Given the description of an element on the screen output the (x, y) to click on. 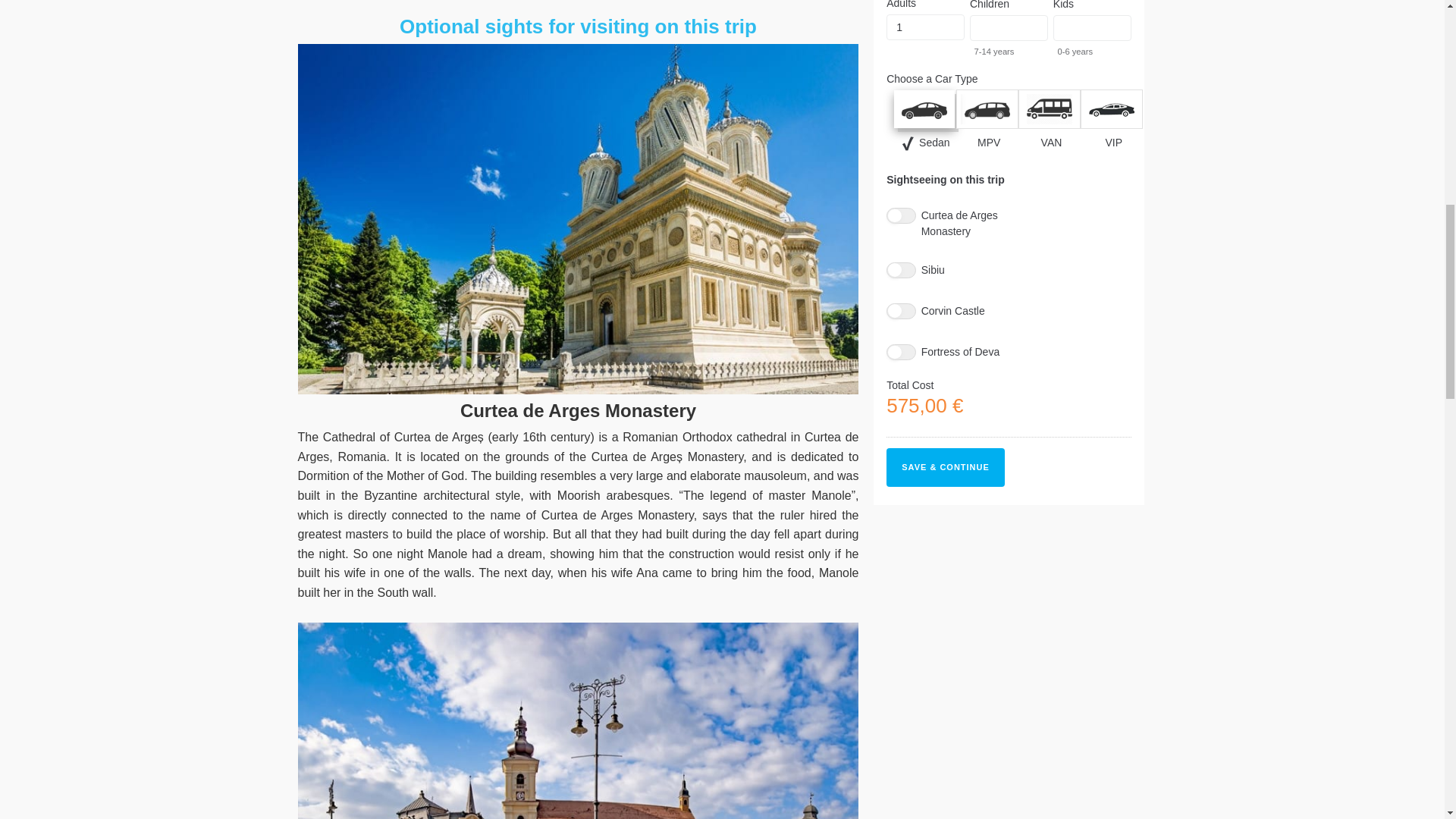
1 (924, 27)
